Given the description of an element on the screen output the (x, y) to click on. 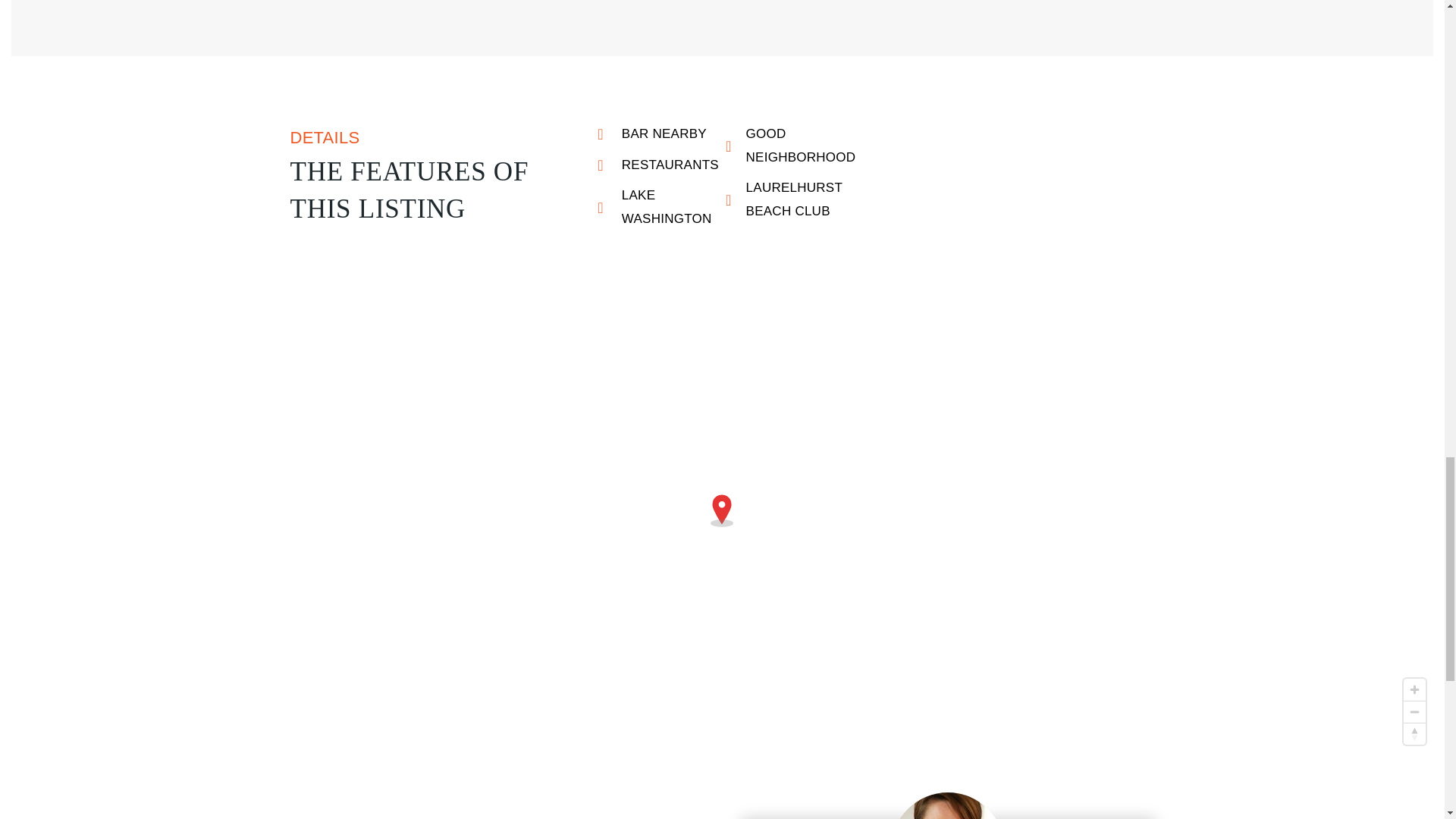
Reset bearing to north (1414, 733)
Zoom out (1414, 711)
Zoom in (1414, 689)
